Given the description of an element on the screen output the (x, y) to click on. 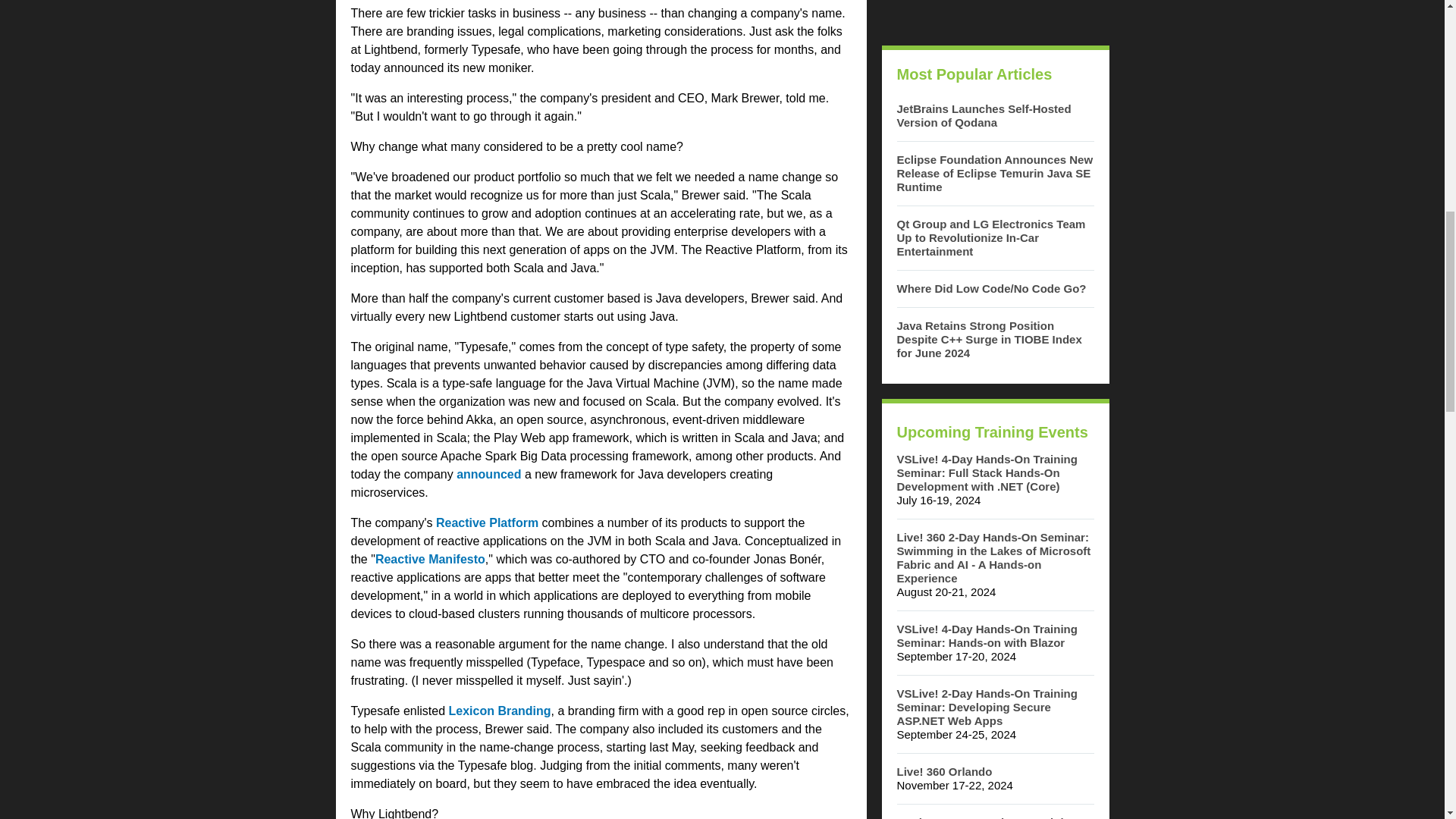
announced (489, 473)
3rd party ad content (994, 15)
Reactive Platform (486, 522)
Reactive Manifesto (429, 558)
Lexicon Branding (499, 710)
